Given the description of an element on the screen output the (x, y) to click on. 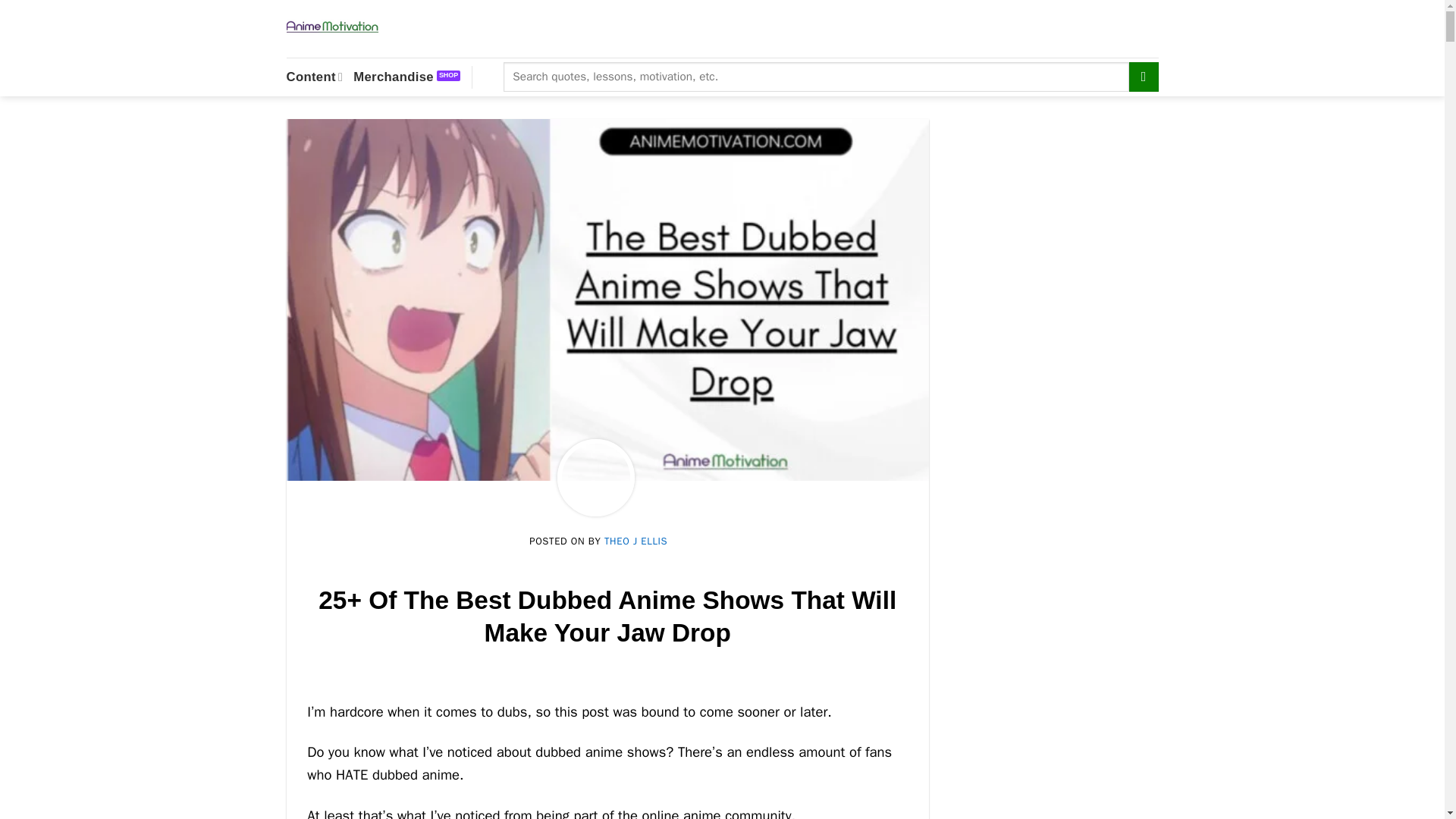
Search (1143, 76)
Merchandise (406, 76)
Content (314, 76)
THEO J ELLIS (635, 540)
